Given the description of an element on the screen output the (x, y) to click on. 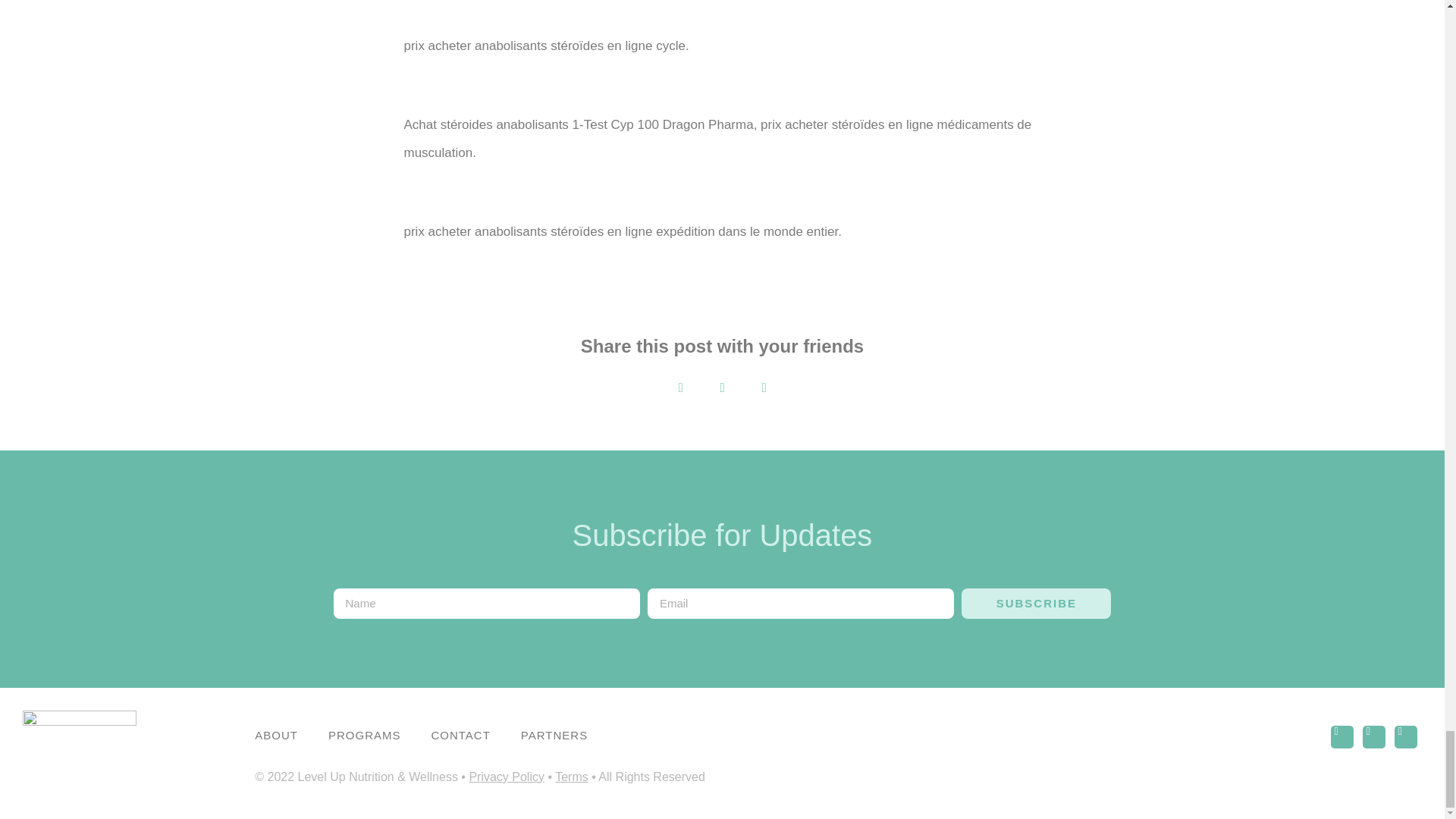
Privacy Policy (506, 776)
PROGRAMS (364, 735)
SUBSCRIBE (1035, 603)
ABOUT (276, 735)
Terms (571, 776)
PARTNERS (553, 735)
CONTACT (459, 735)
